Given the description of an element on the screen output the (x, y) to click on. 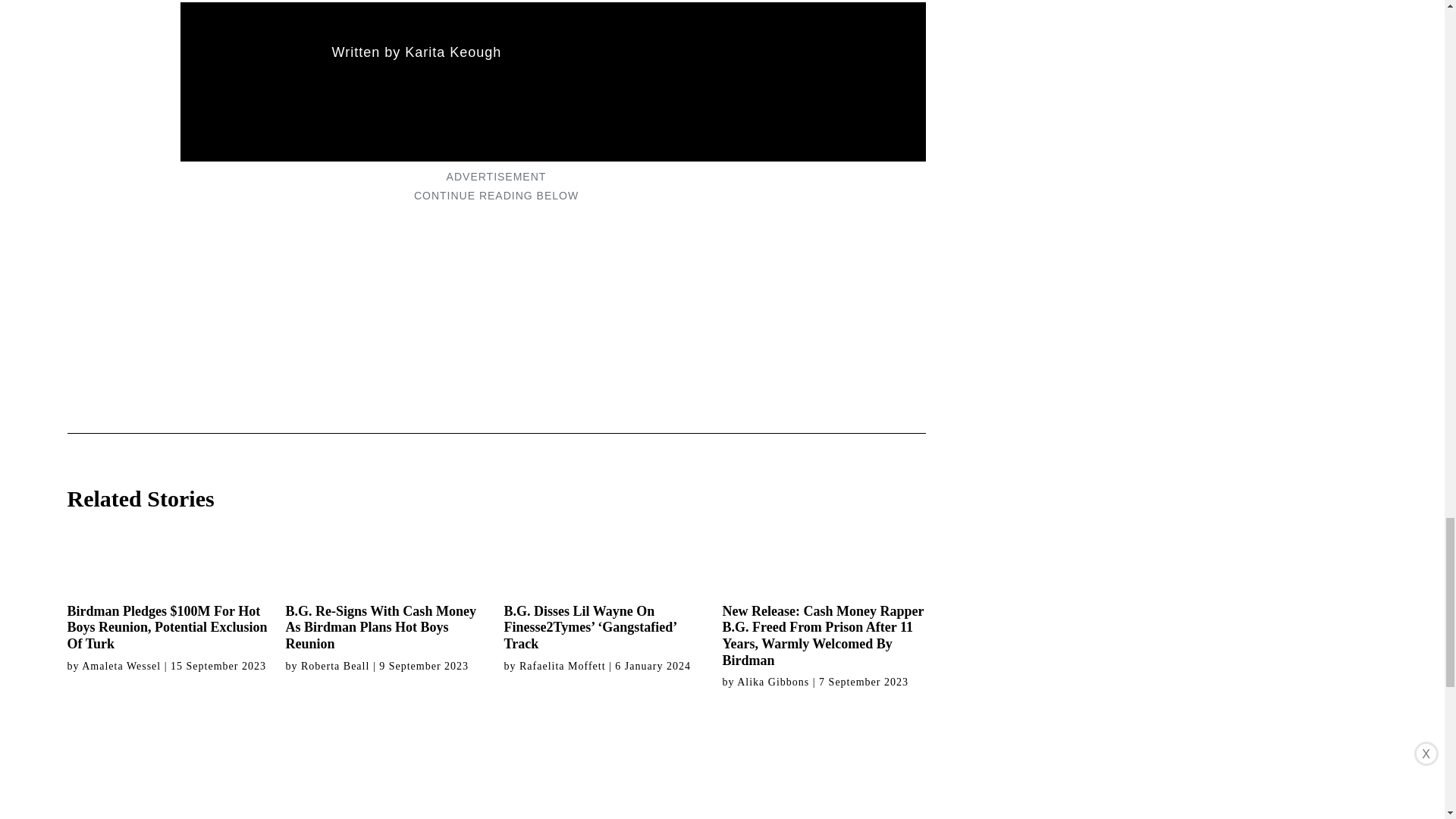
12 Best Jordan Silver Kindle Books for 2024 (386, 762)
12 Best Jordan Silver Kindle Books for 2024 (386, 762)
What Are The Points On Amazon For (167, 762)
What Are The Points On Amazon For (167, 762)
